Given the description of an element on the screen output the (x, y) to click on. 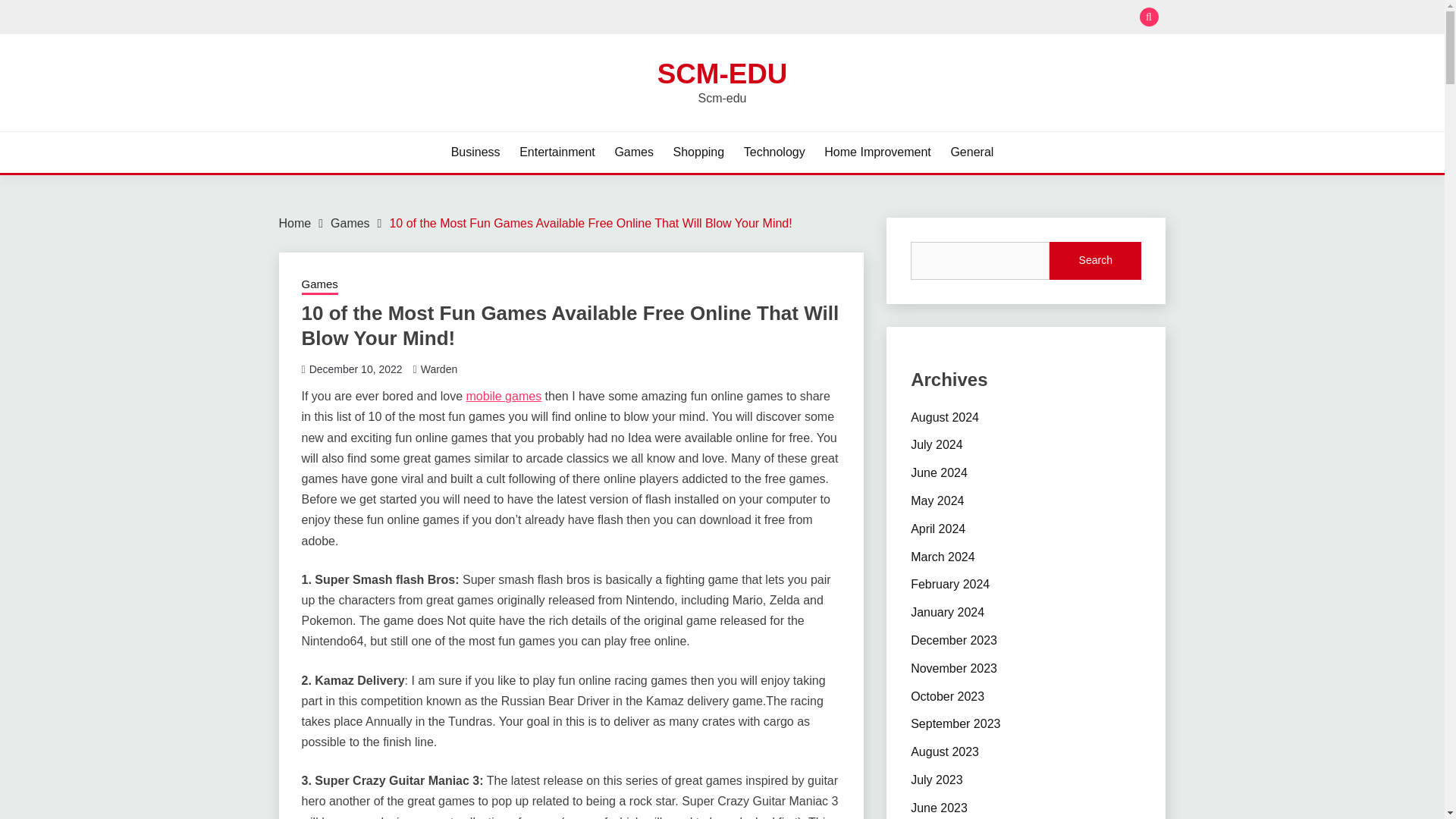
June 2024 (939, 472)
SCM-EDU (722, 73)
December 10, 2022 (355, 369)
April 2024 (938, 528)
Home Improvement (877, 152)
Business (475, 152)
General (971, 152)
Entertainment (557, 152)
August 2024 (944, 417)
Games (349, 223)
Games (633, 152)
Games (319, 285)
Warden (439, 369)
Search (832, 18)
July 2024 (936, 444)
